Given the description of an element on the screen output the (x, y) to click on. 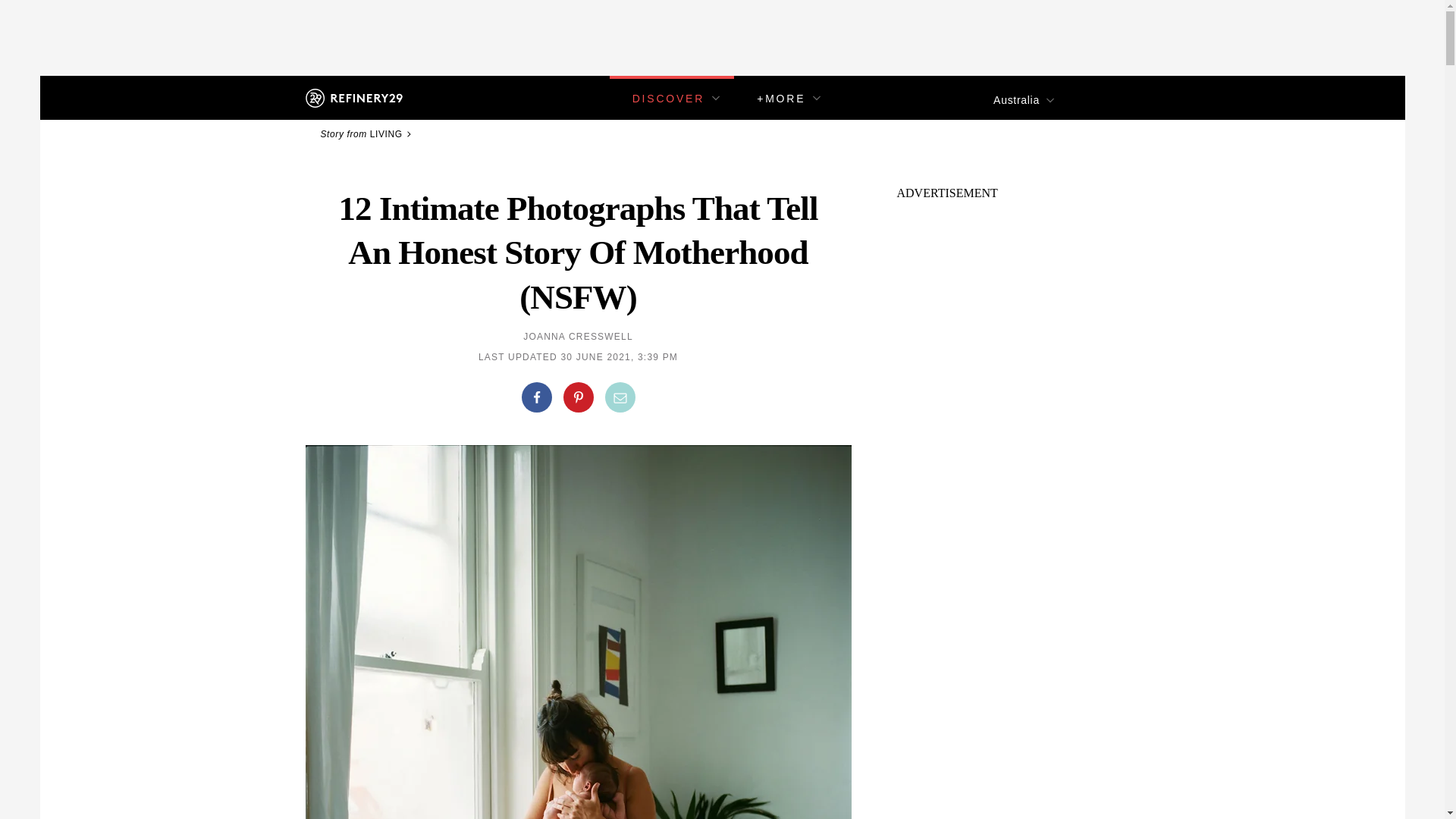
JOANNA CRESSWELL (577, 336)
Share on Facebook (536, 397)
Story from LIVING (367, 133)
Refinery29 (352, 97)
Share on Pinterest (577, 397)
DISCOVER (667, 98)
30 JUNE 2021, 3:39 PM (619, 357)
Share by Email (619, 397)
